Given the description of an element on the screen output the (x, y) to click on. 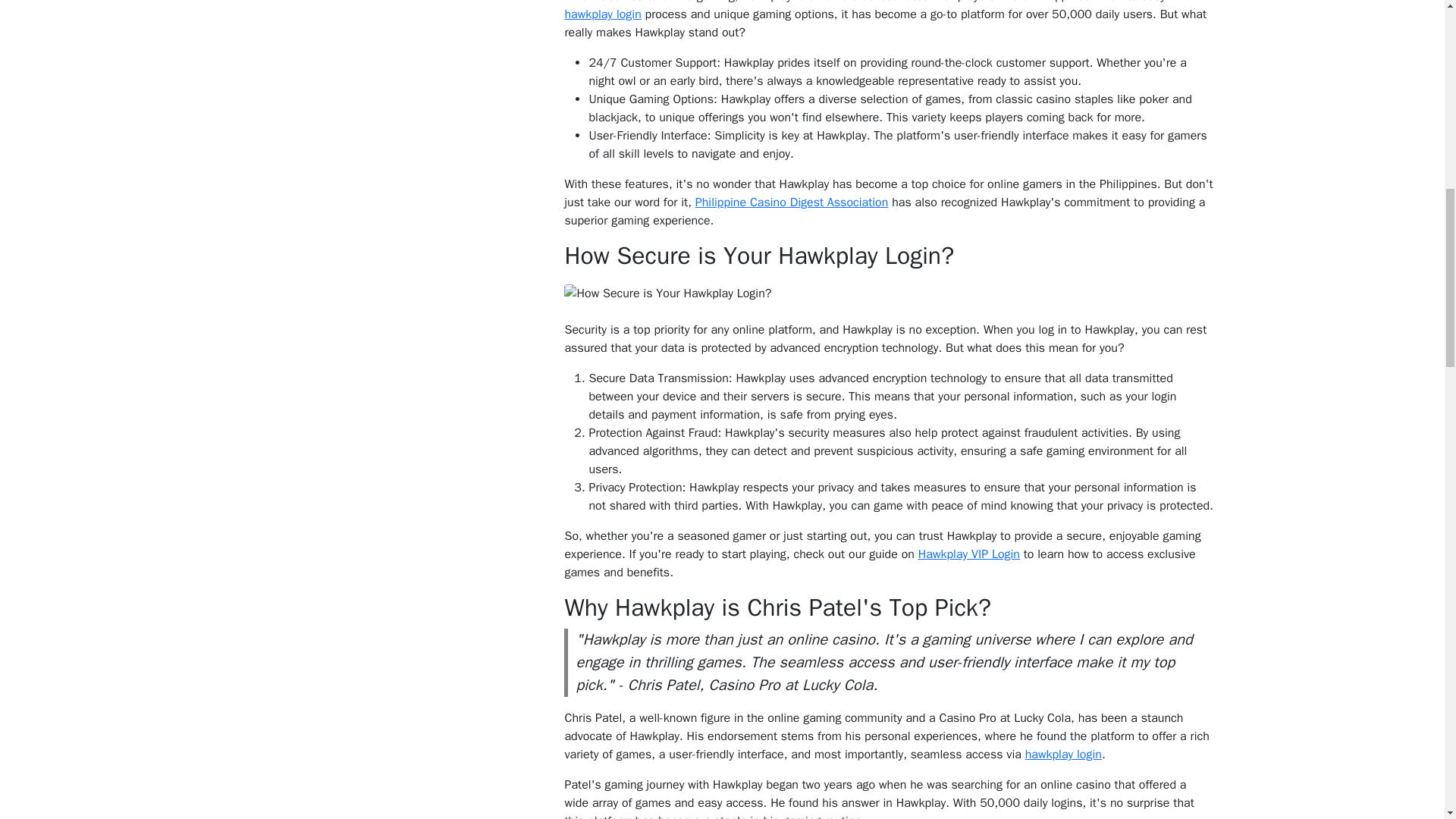
Hawkplay VIP Login (969, 554)
Philippine Casino Digest Association (791, 201)
hawkplay login (602, 14)
hawkplay login (1063, 754)
